Given the description of an element on the screen output the (x, y) to click on. 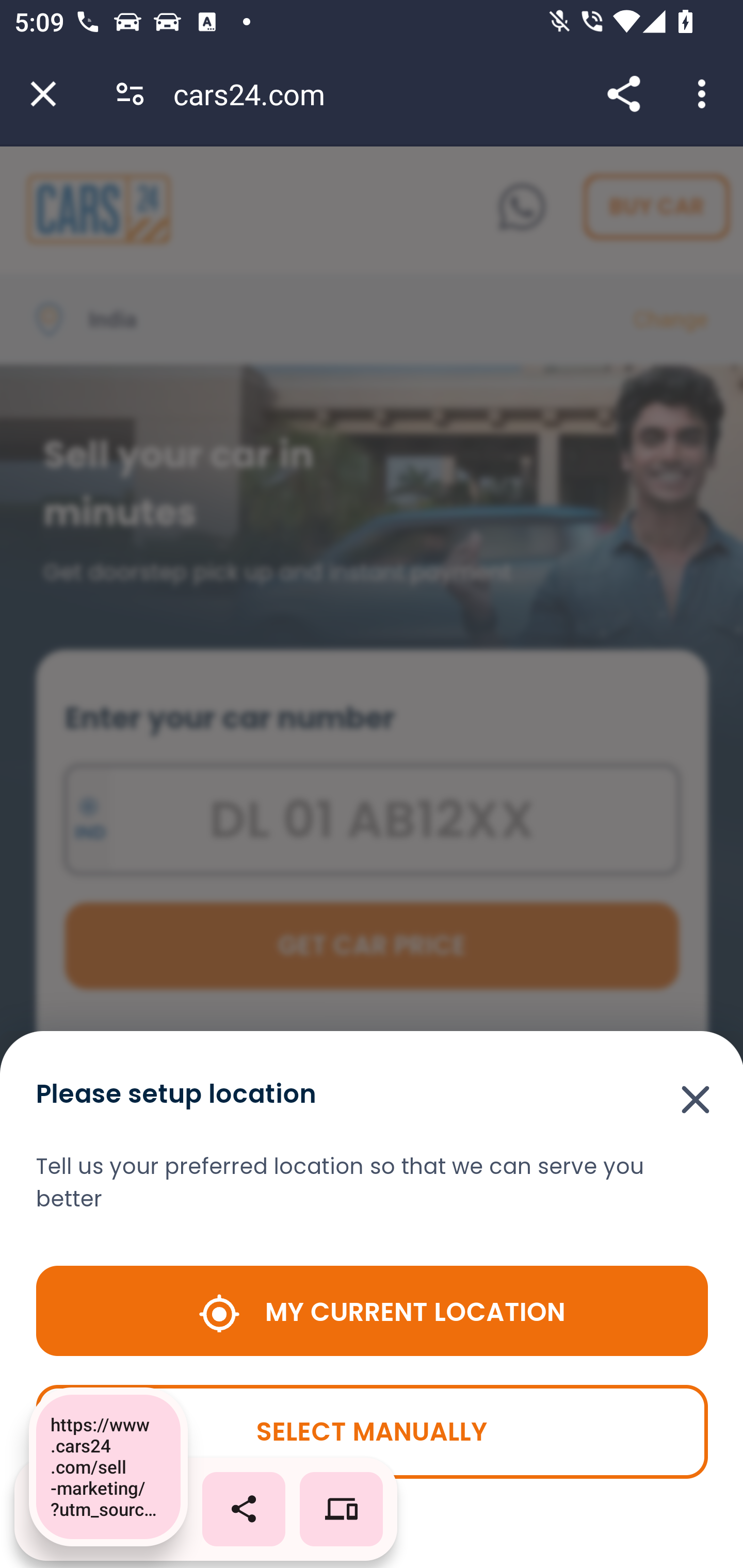
Close tab (43, 93)
Share (623, 93)
Customize and control Google Chrome (705, 93)
Connection is secure (129, 93)
cars24.com (256, 93)
